Given the description of an element on the screen output the (x, y) to click on. 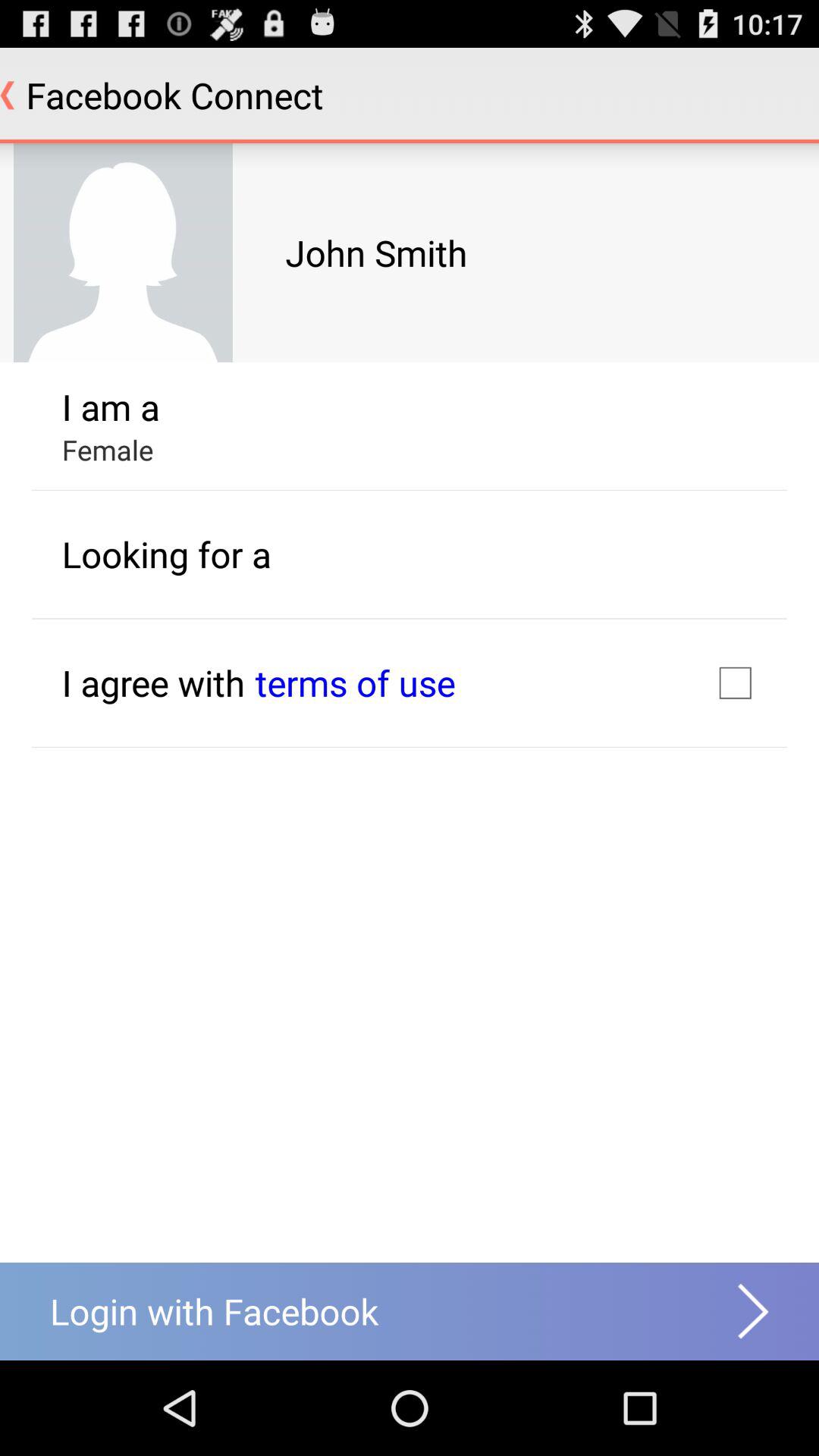
turn off i agree with (153, 682)
